Given the description of an element on the screen output the (x, y) to click on. 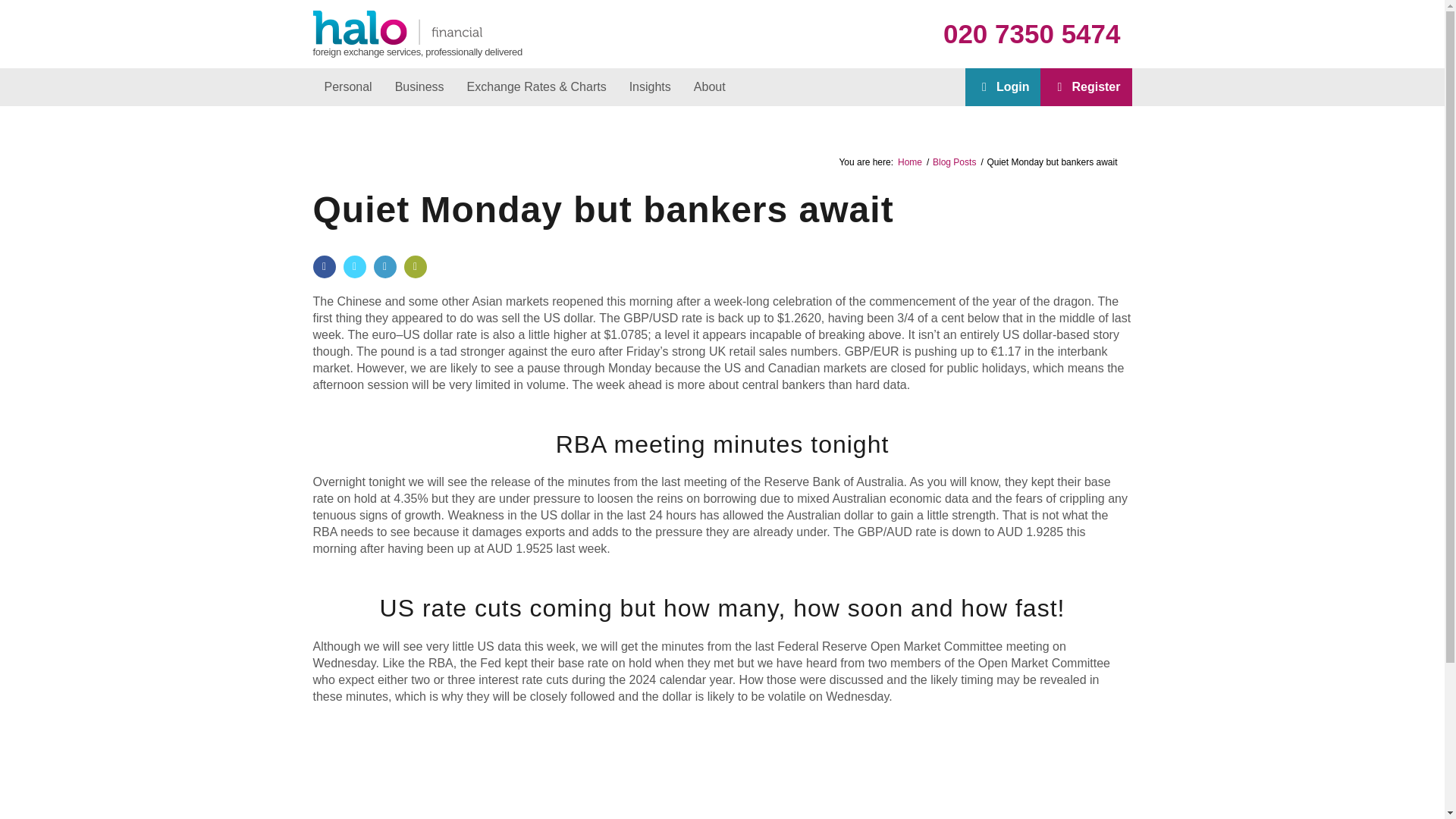
HaloFinancialv2 (397, 27)
Personal (347, 86)
foreign exchange services, professionally delivered (397, 51)
Blog Posts (954, 161)
Halo Financial (909, 161)
020 7350 5474 (1032, 33)
